Given the description of an element on the screen output the (x, y) to click on. 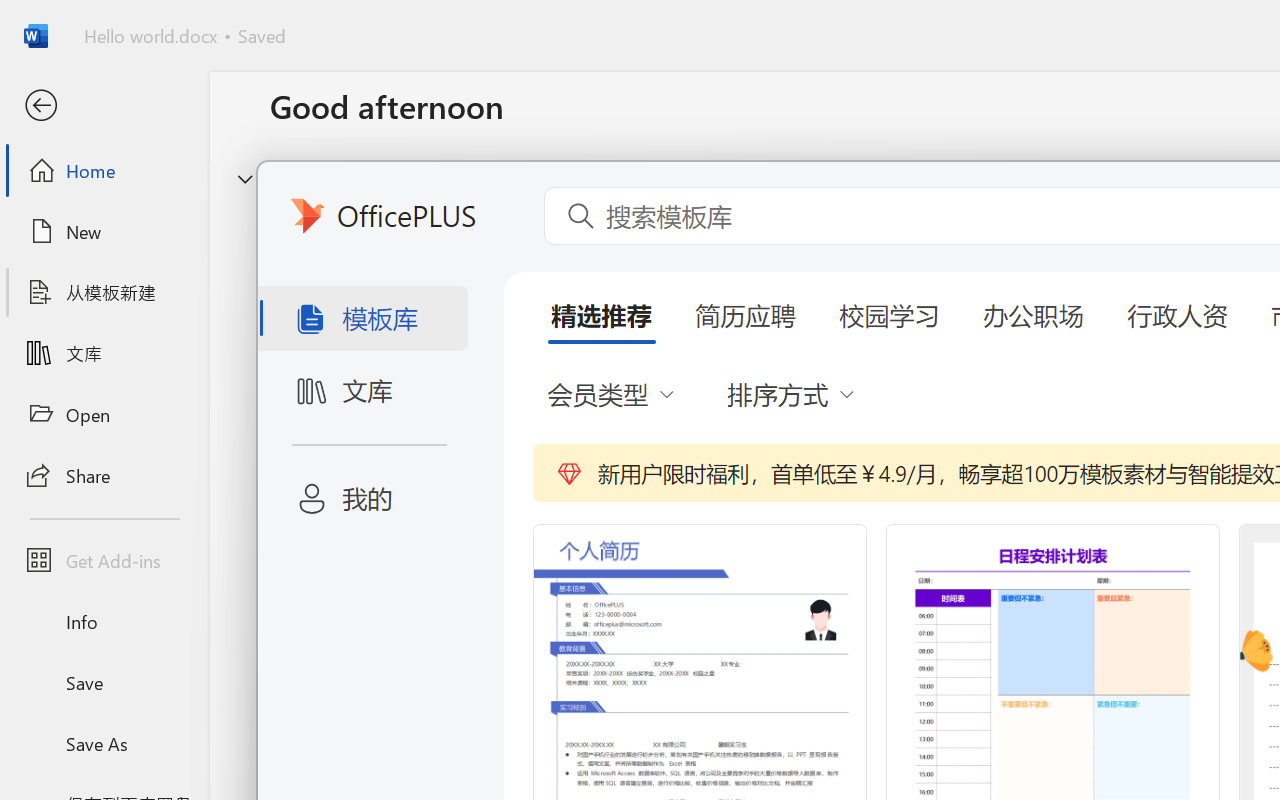
Inspect without Color (353, 114)
Always Use Subtitles (889, 97)
Screen Reader (805, 168)
